Given the description of an element on the screen output the (x, y) to click on. 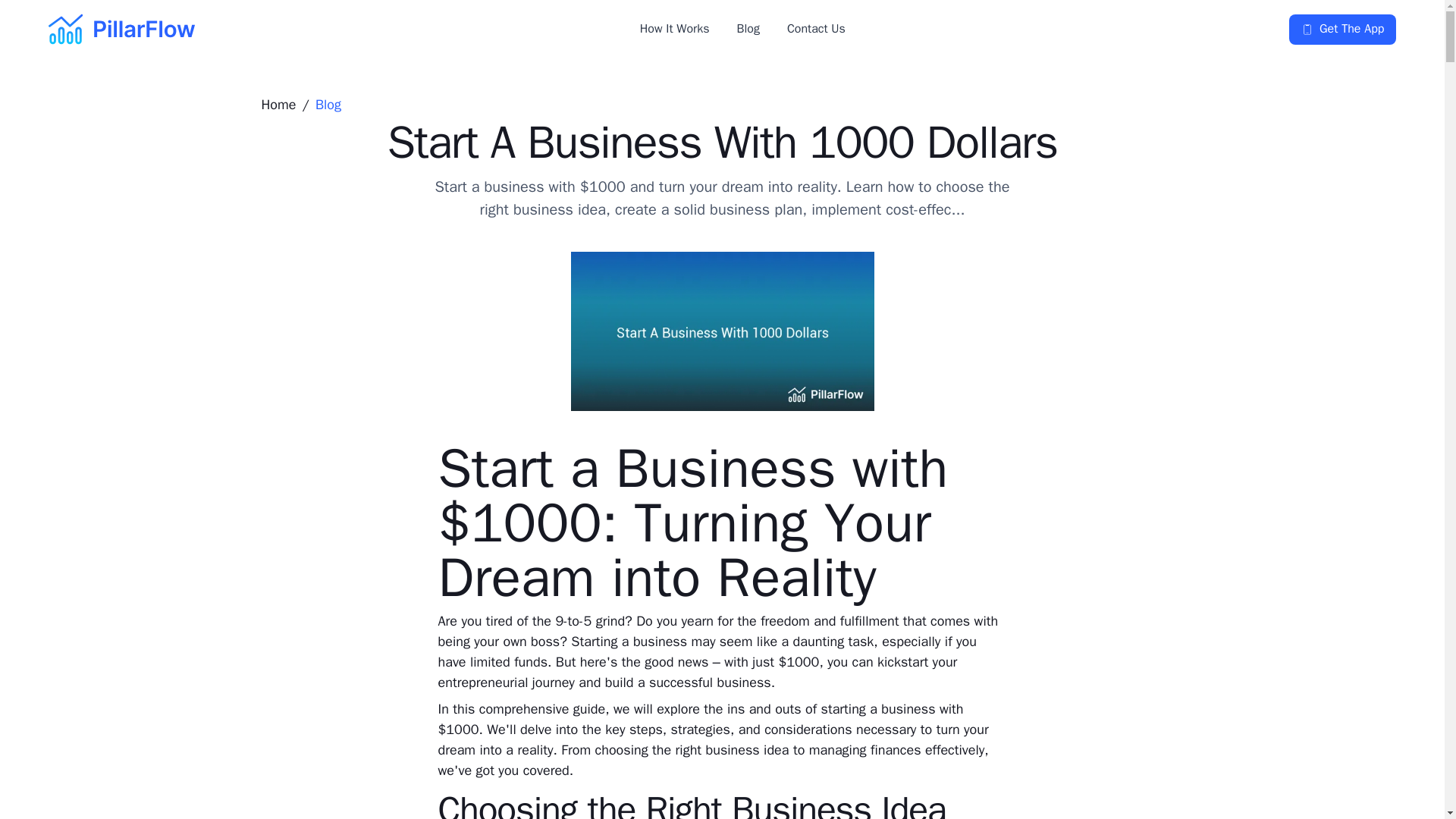
Contact Us (815, 28)
Get The App (1342, 28)
Home (277, 105)
Blog (748, 28)
Blog (327, 105)
How It Works (674, 28)
